Given the description of an element on the screen output the (x, y) to click on. 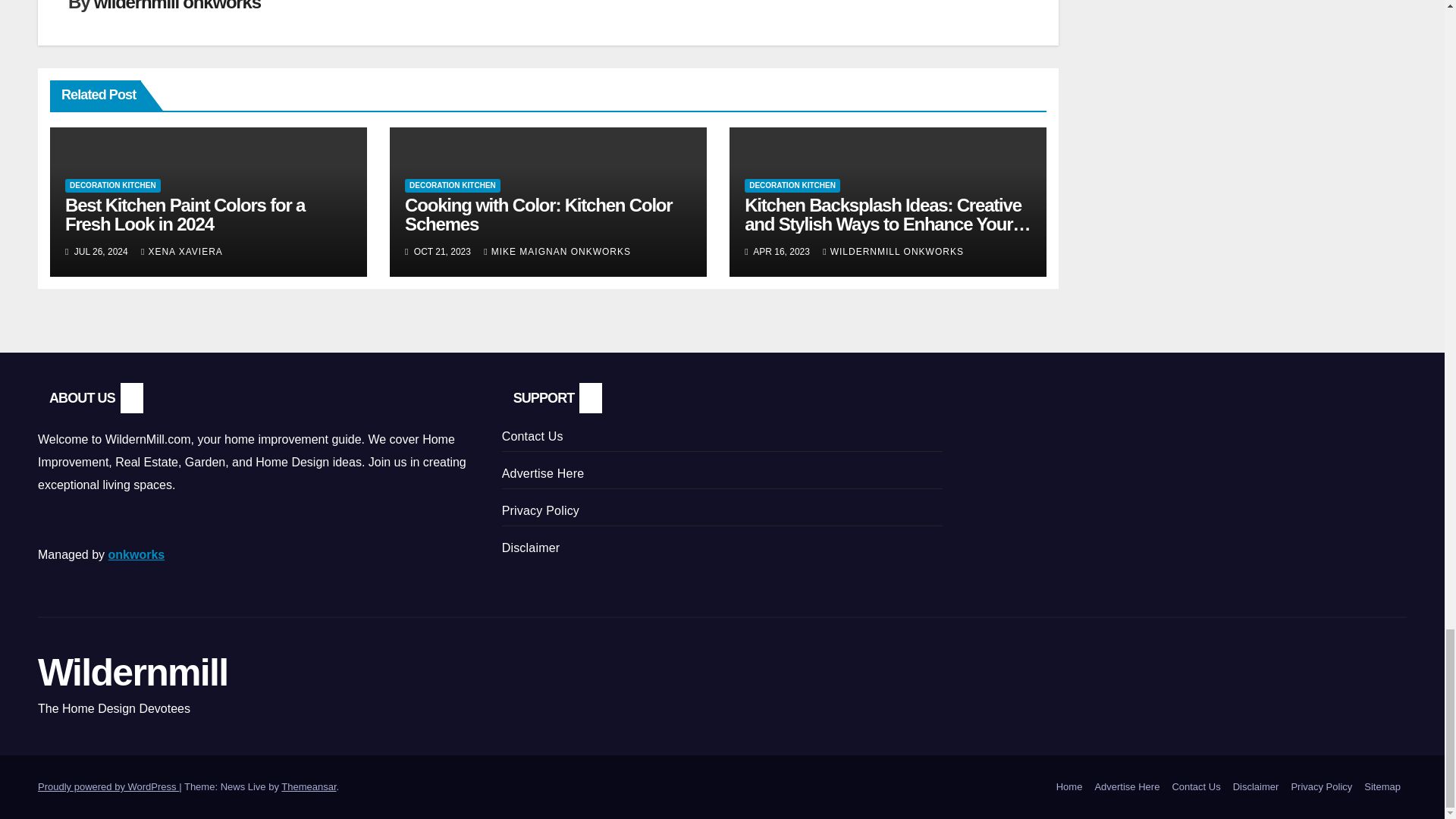
Best Kitchen Paint Colors for a Fresh Look in 2024 (184, 214)
wildernmill onkworks (177, 6)
Permalink to: Cooking with Color: Kitchen Color Schemes (537, 214)
DECORATION KITCHEN (112, 185)
XENA XAVIERA (181, 251)
